Given the description of an element on the screen output the (x, y) to click on. 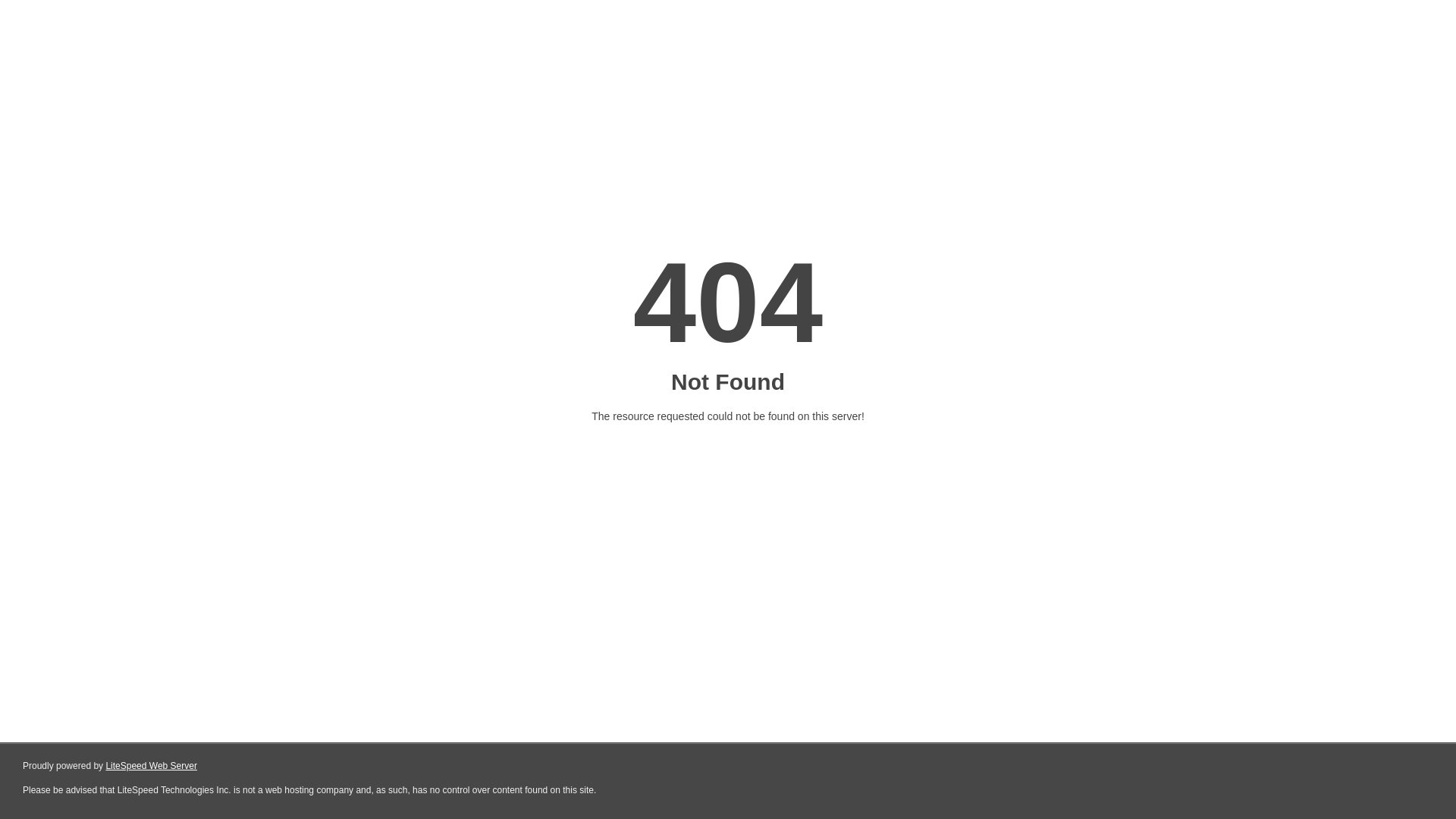
LiteSpeed Web Server Element type: text (151, 765)
